Given the description of an element on the screen output the (x, y) to click on. 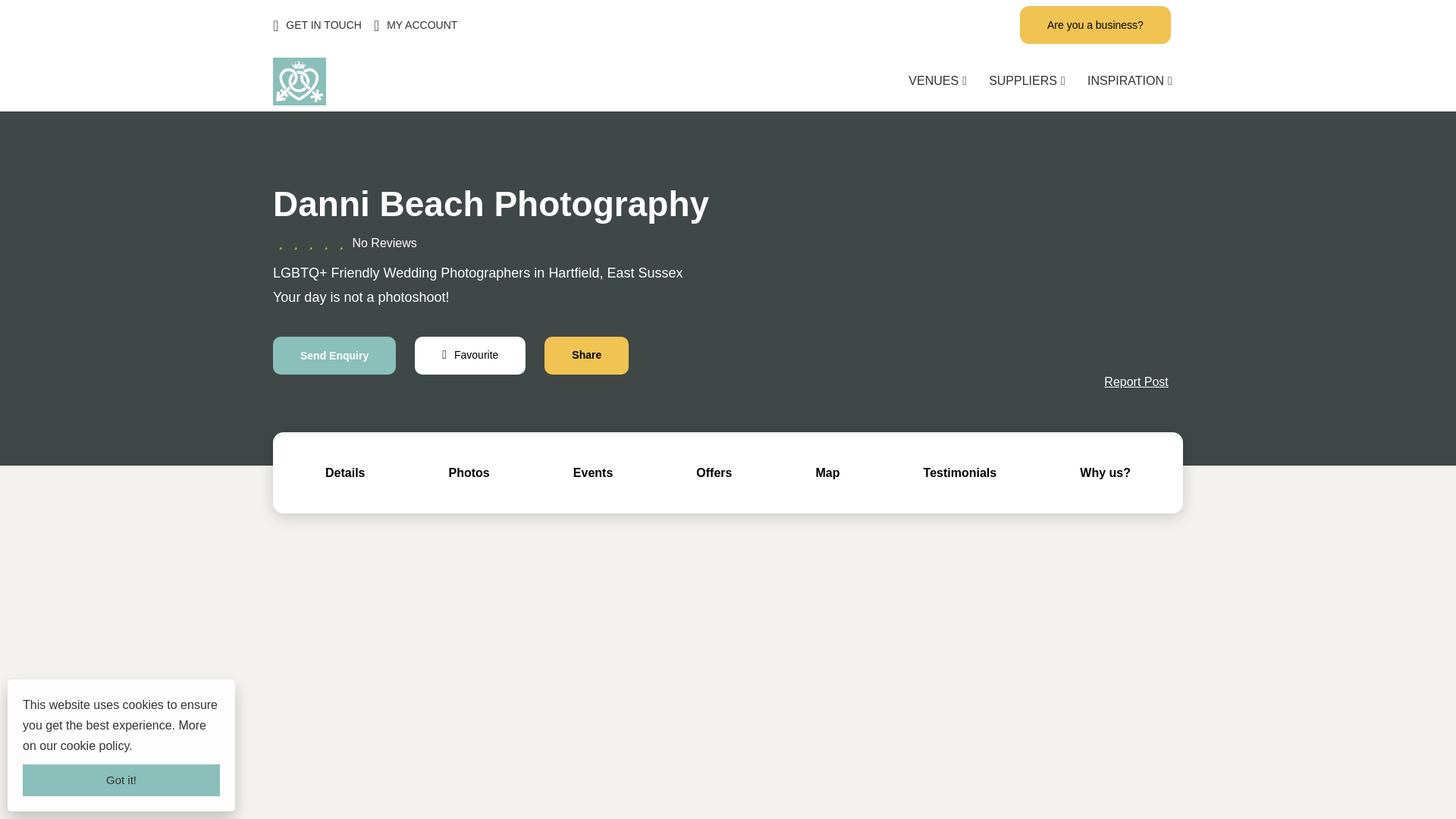
Gay Wedding Guide (299, 101)
VENUES (936, 80)
No rating yet! (311, 242)
Add to Favourites (469, 354)
MY ACCOUNT (415, 24)
Gay Wedding Guide (299, 80)
GET IN TOUCH (317, 24)
Are you a business? (1095, 24)
